Given the description of an element on the screen output the (x, y) to click on. 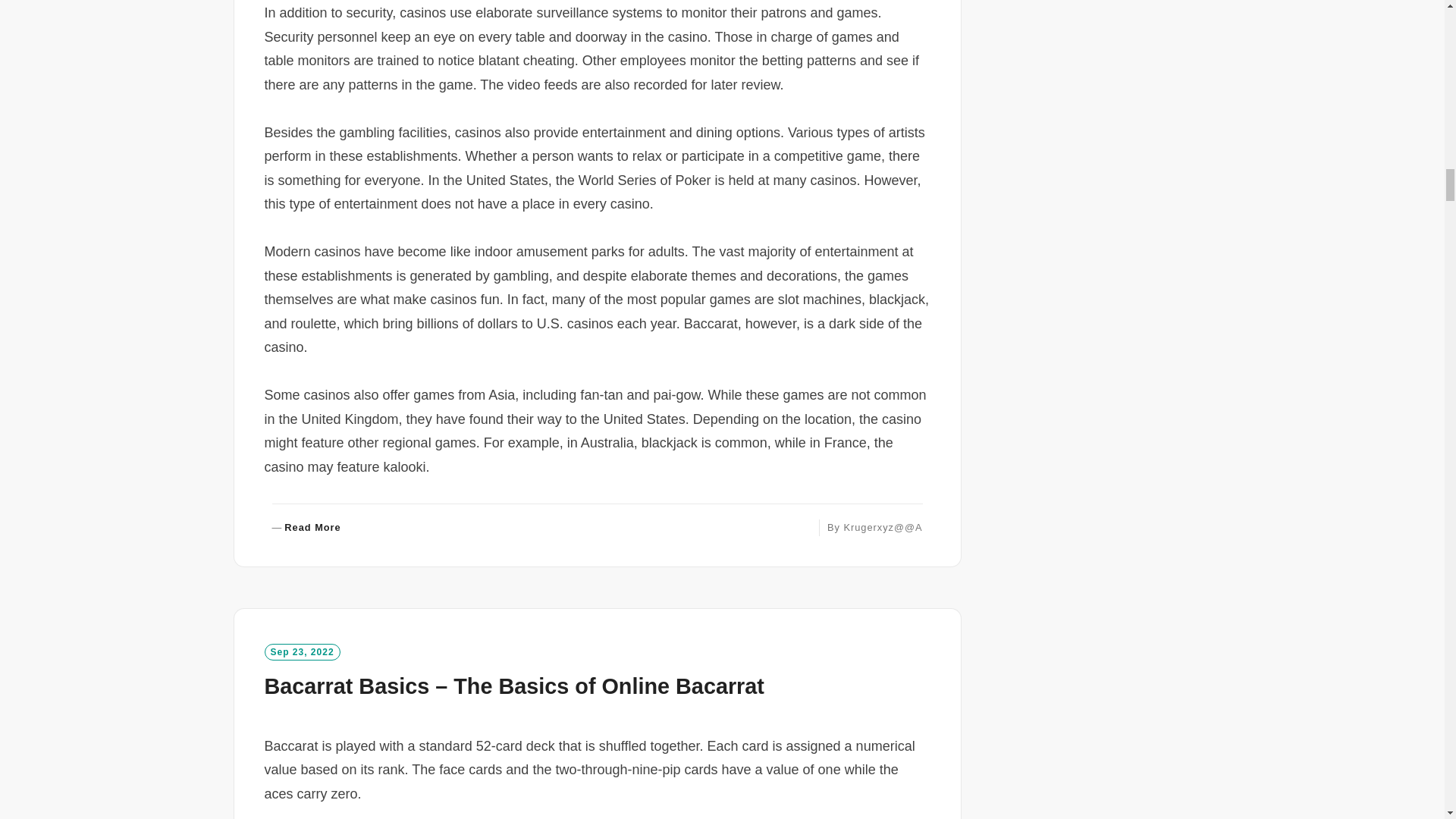
Sep 23, 2022 (301, 651)
